Given the description of an element on the screen output the (x, y) to click on. 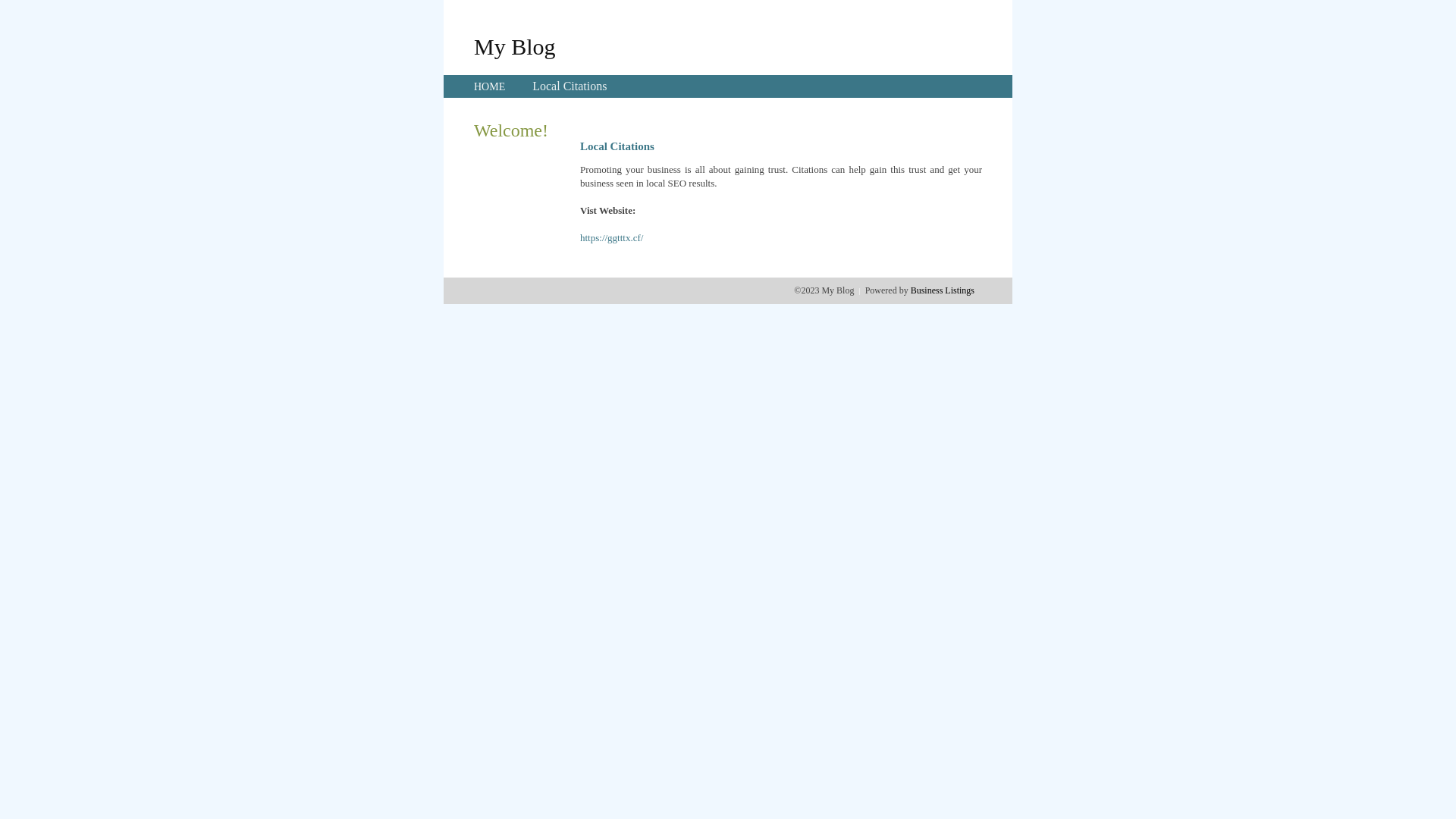
Local Citations Element type: text (569, 85)
Business Listings Element type: text (942, 290)
HOME Element type: text (489, 86)
https://ggtttx.cf/ Element type: text (611, 237)
My Blog Element type: text (514, 46)
